Given the description of an element on the screen output the (x, y) to click on. 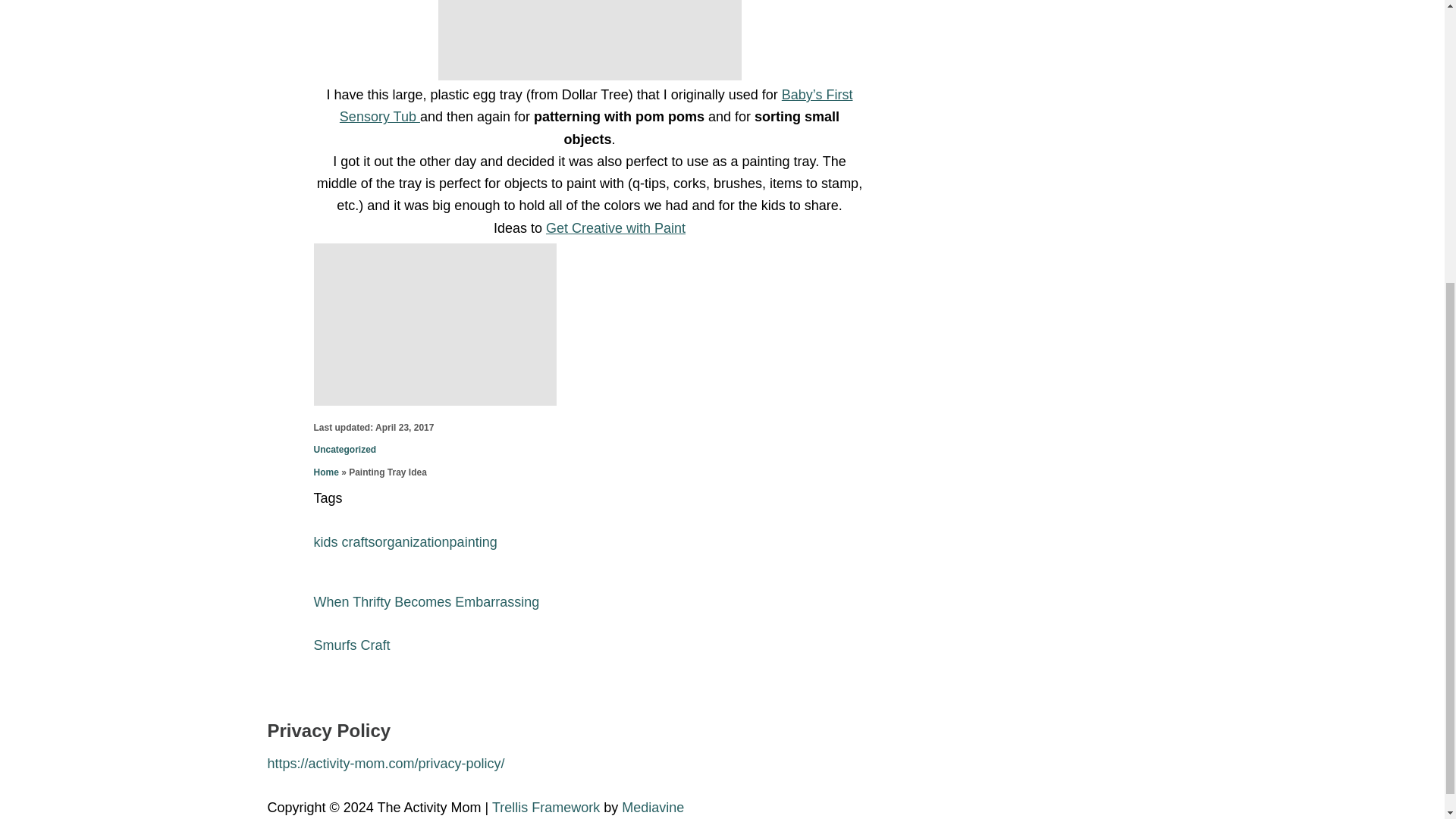
Smurfs Craft (590, 645)
When Thrifty Becomes Embarrassing (590, 602)
Mediavine (652, 807)
kids crafts (344, 541)
painting (473, 541)
Get Creative with Paint (615, 227)
Trellis Framework (545, 807)
Home (326, 471)
Uncategorized (345, 449)
organization (412, 541)
